Given the description of an element on the screen output the (x, y) to click on. 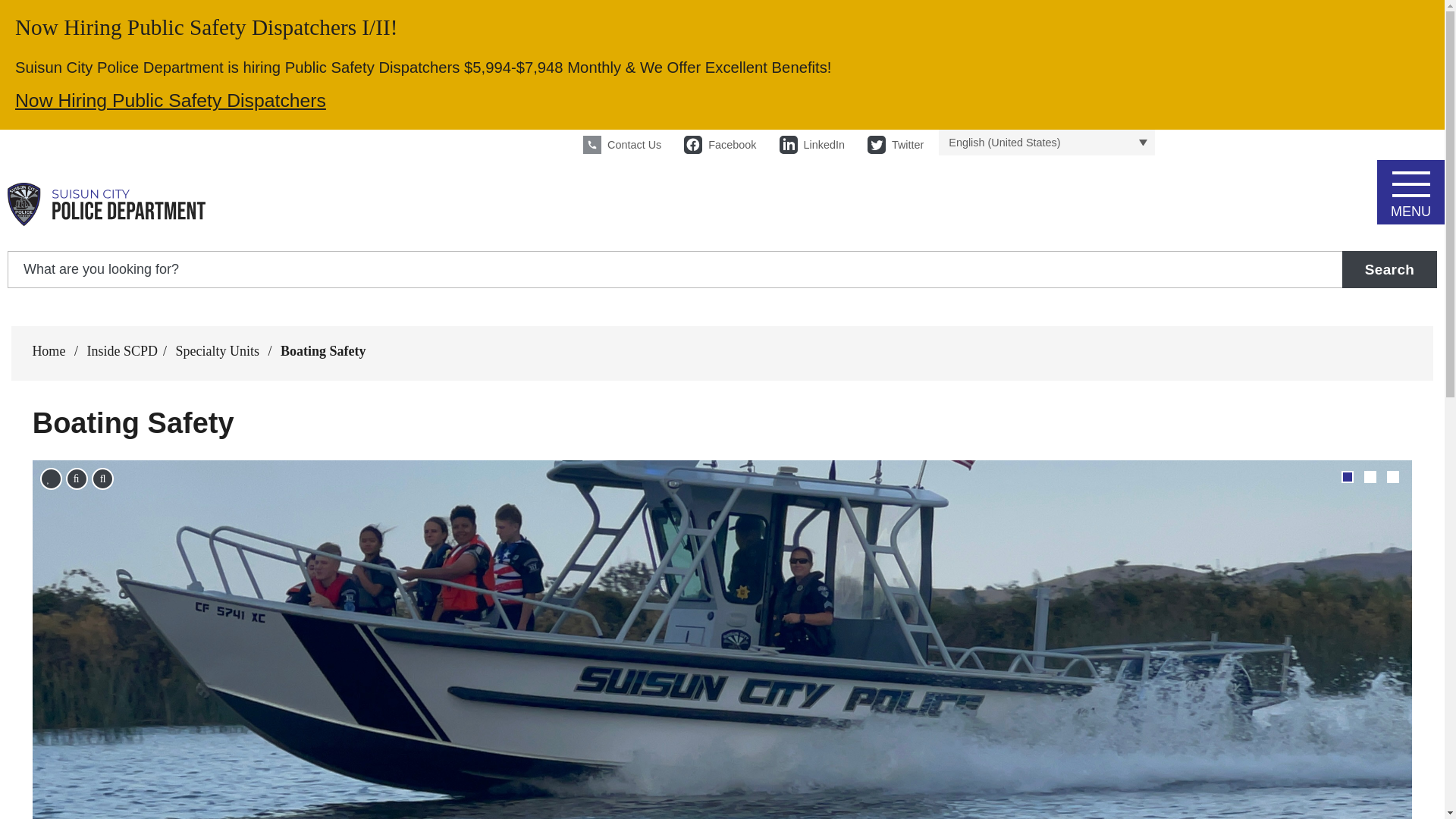
Police - Home - Logo (106, 205)
Now Hiring Public Safety Dispatchers (170, 100)
Search (1389, 269)
MENU (1410, 187)
Contact Us (622, 144)
Search (1389, 269)
Twitter (895, 144)
Search (1389, 269)
Facebook (719, 144)
LinkedIn (811, 144)
